Given the description of an element on the screen output the (x, y) to click on. 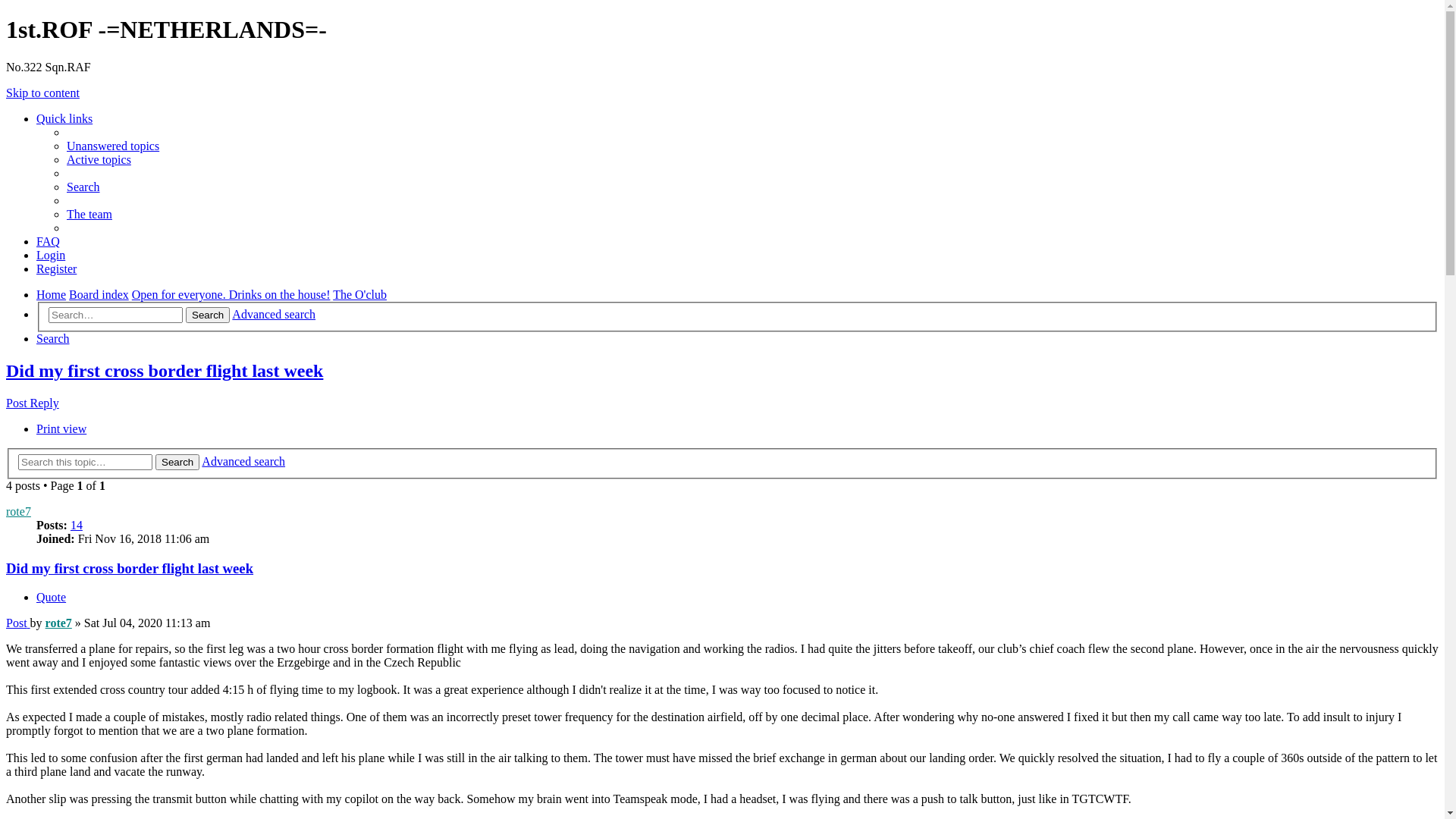
Search Element type: text (207, 315)
Unanswered topics Element type: text (112, 145)
Advanced search Element type: text (243, 461)
Advanced search Element type: text (273, 313)
Post Element type: text (18, 622)
FAQ Element type: text (47, 241)
The O'club Element type: text (359, 294)
14 Element type: text (76, 524)
Did my first cross border flight last week Element type: text (129, 568)
rote7 Element type: text (58, 622)
rote7 Element type: text (18, 511)
Did my first cross border flight last week Element type: text (164, 370)
Login Element type: text (50, 254)
Search Element type: text (52, 338)
Skip to content Element type: text (42, 92)
Post Reply Element type: text (32, 402)
Board index Element type: text (98, 294)
Print view Element type: text (61, 428)
Search Element type: text (177, 462)
Open for everyone. Drinks on the house! Element type: text (230, 294)
Quick links Element type: text (64, 118)
Active topics Element type: text (98, 159)
Home Element type: text (50, 294)
Register Element type: text (56, 268)
The team Element type: text (89, 213)
Search Element type: text (83, 186)
Search for keywords Element type: hover (115, 315)
Quote Element type: text (50, 596)
